Given the description of an element on the screen output the (x, y) to click on. 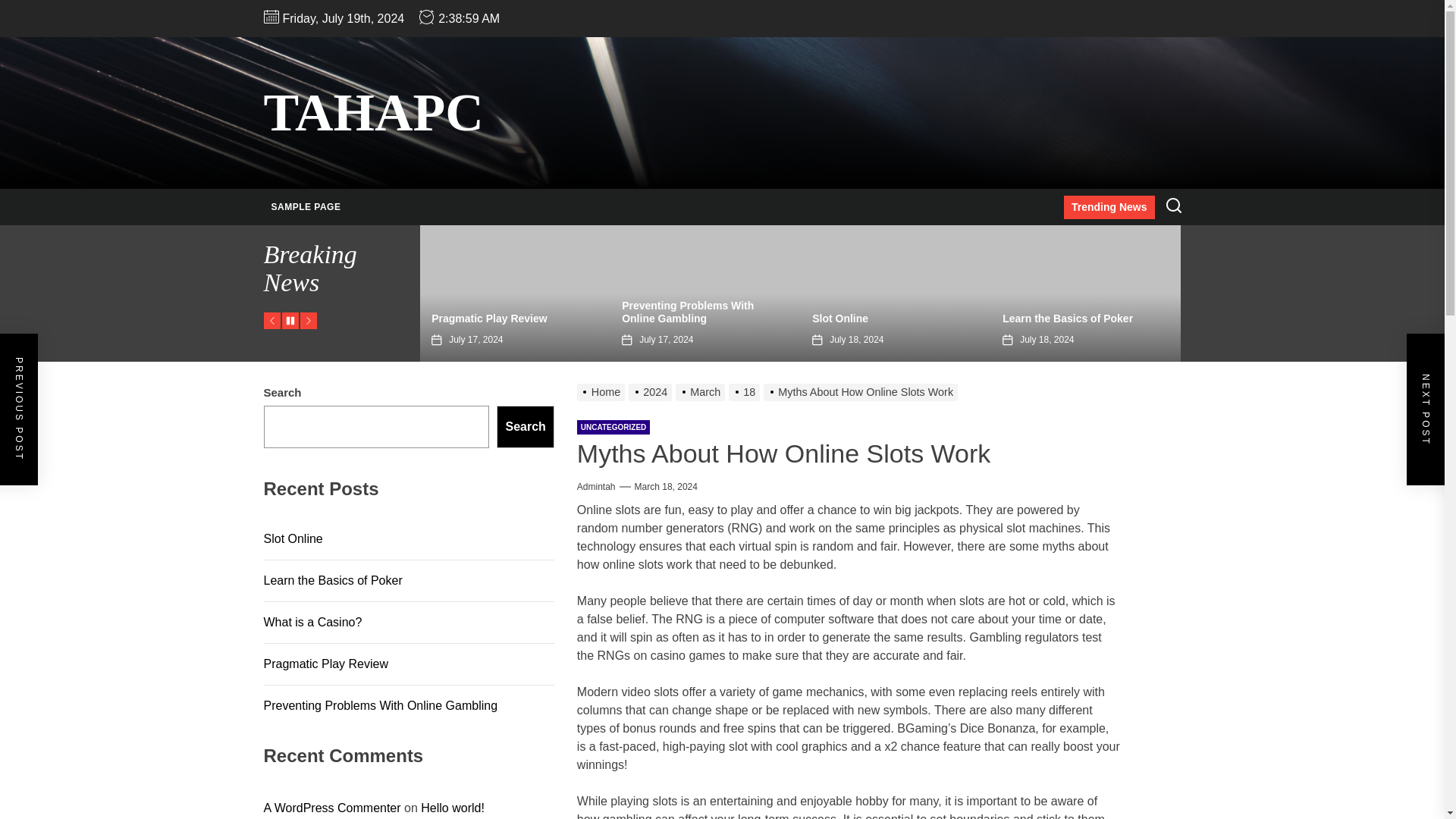
Trending News (1109, 207)
SAMPLE PAGE (306, 207)
Pragmatic Play Review (488, 318)
TAHAPC (373, 112)
Preventing Problems With Online Gambling (687, 311)
